Given the description of an element on the screen output the (x, y) to click on. 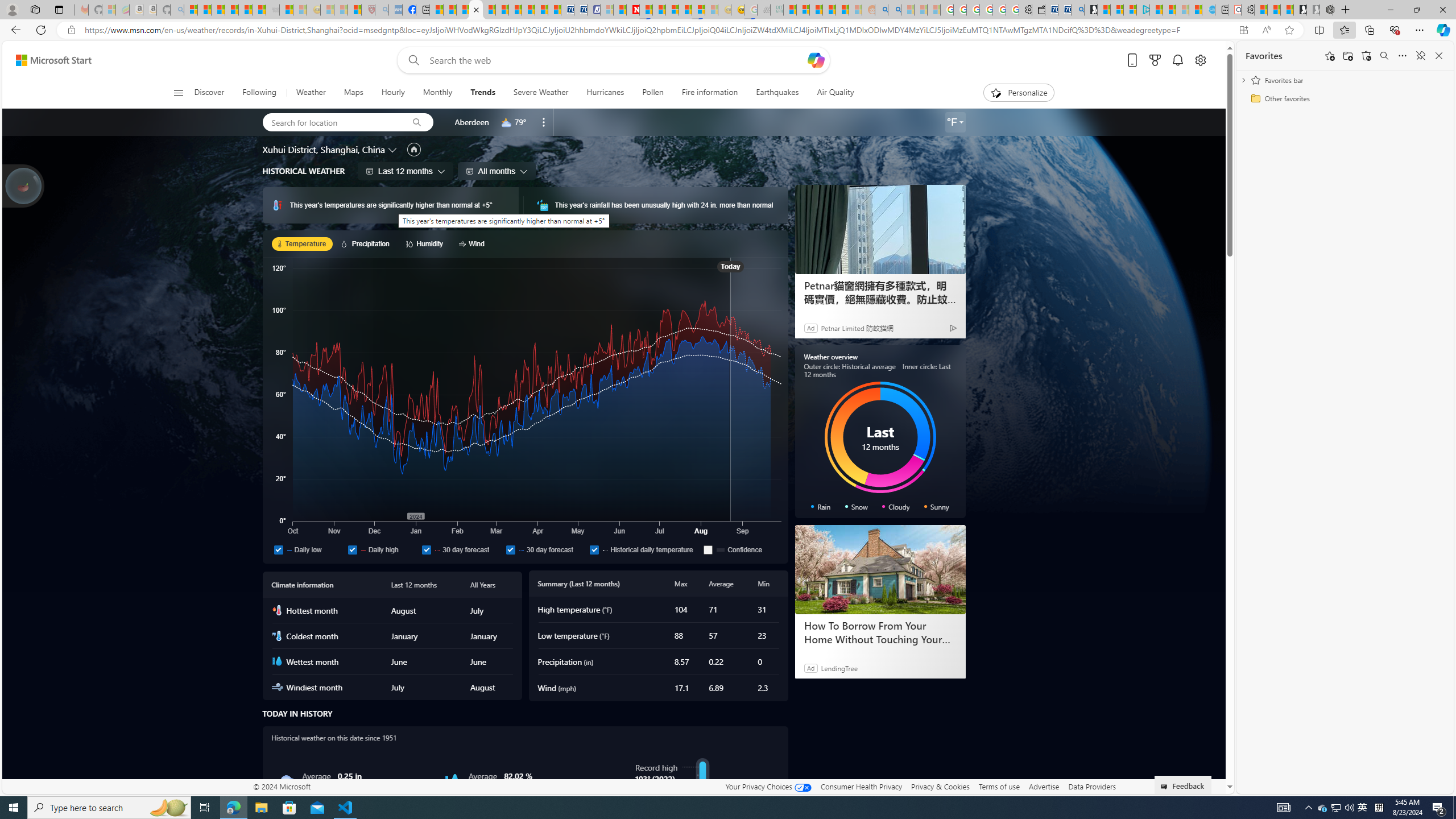
Class: feedback_link_icon-DS-EntryPoint1-1 (1165, 786)
Rain (285, 781)
Air Quality (831, 92)
New Report Confirms 2023 Was Record Hot | Watch (245, 9)
Add folder (1347, 55)
